Given the description of an element on the screen output the (x, y) to click on. 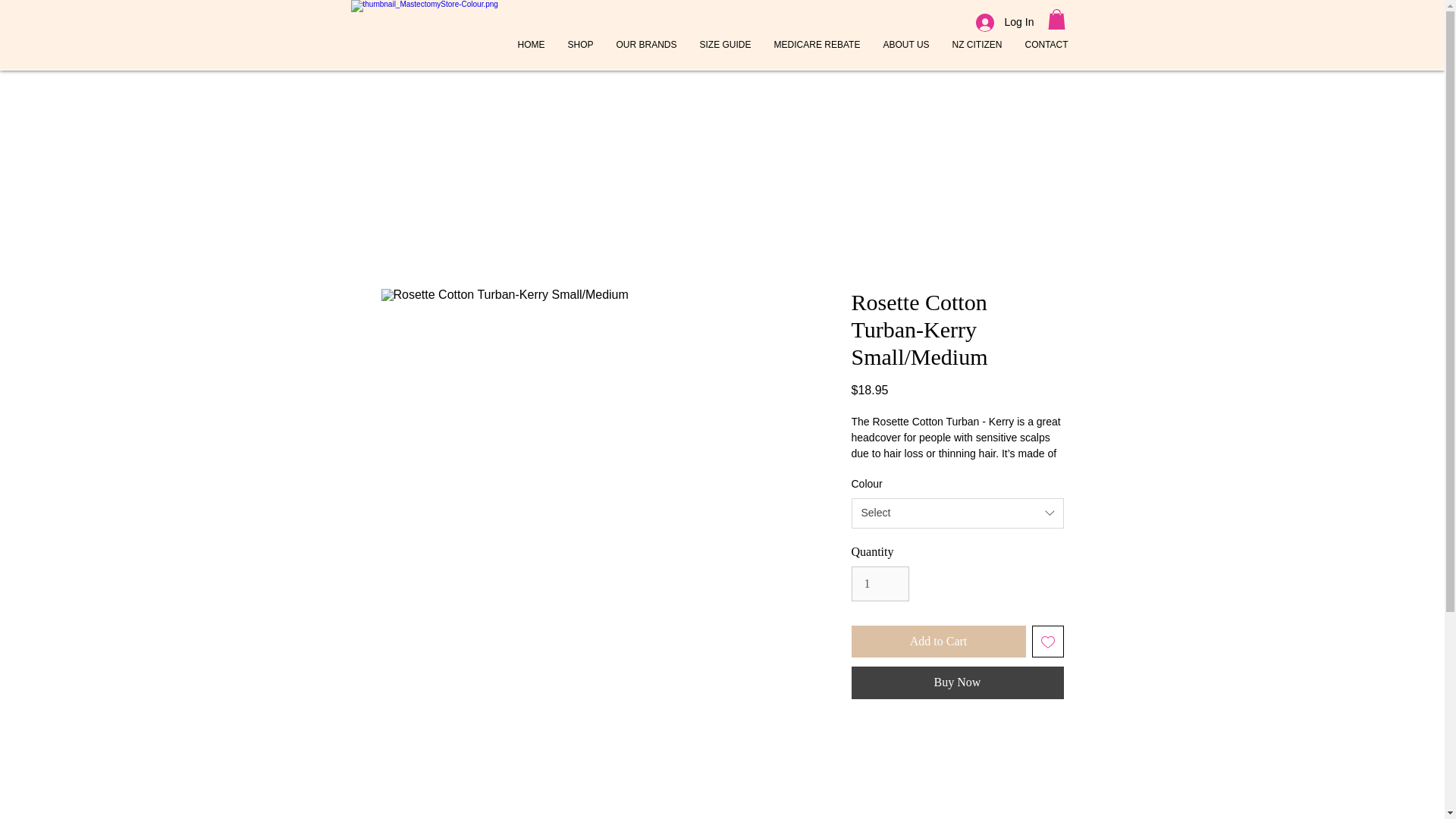
HOME (531, 44)
1 (879, 583)
OUR BRANDS (646, 44)
NZ CITIZEN (976, 44)
CONTACT (1045, 44)
SHOP (580, 44)
Log In (994, 22)
ABOUT US (906, 44)
MEDICARE REBATE (817, 44)
Buy Now (956, 682)
Add to Cart (937, 641)
Select (956, 512)
SIZE GUIDE (725, 44)
